Given the description of an element on the screen output the (x, y) to click on. 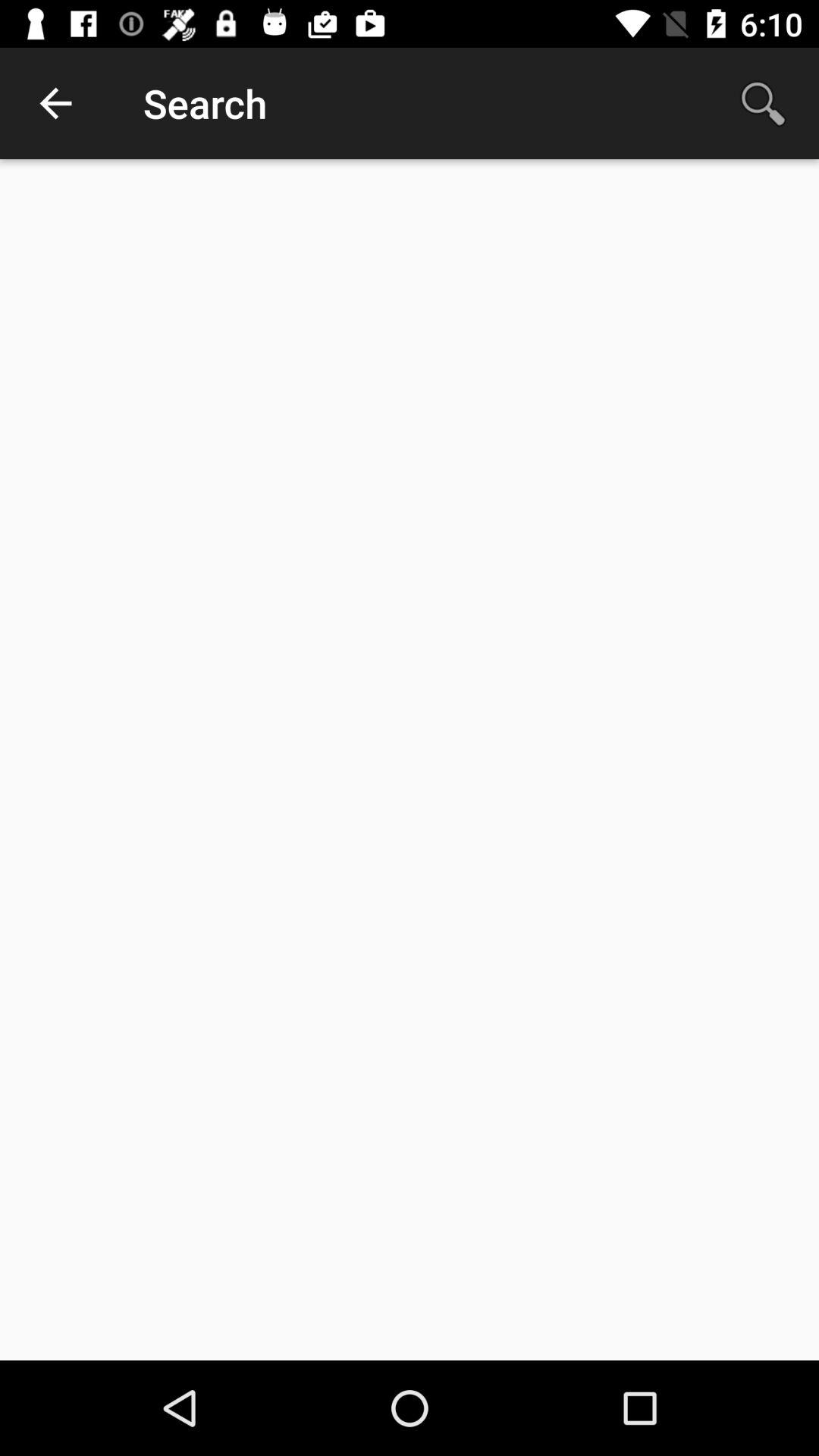
click the item to the left of search item (55, 103)
